Given the description of an element on the screen output the (x, y) to click on. 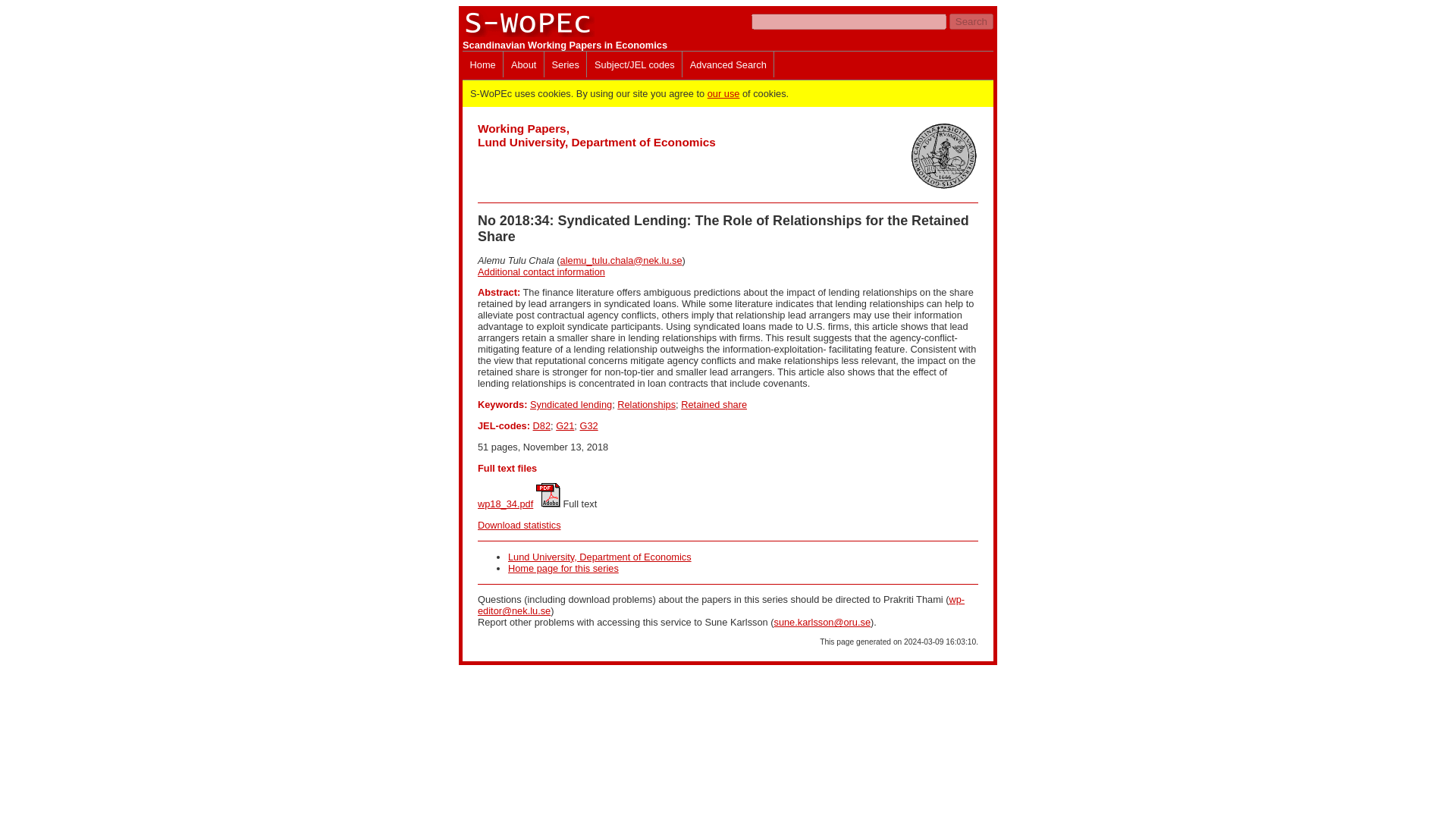
Download statistics (518, 524)
G32 (587, 425)
G21 (564, 425)
Relationships (646, 404)
Home (482, 63)
Home page for this series (563, 568)
Lund University, Department of Economics (599, 556)
Advanced Search (727, 63)
our use (723, 93)
Search (970, 21)
About (523, 63)
Syndicated lending (570, 404)
Series (565, 63)
Search (970, 21)
Retained share (713, 404)
